Given the description of an element on the screen output the (x, y) to click on. 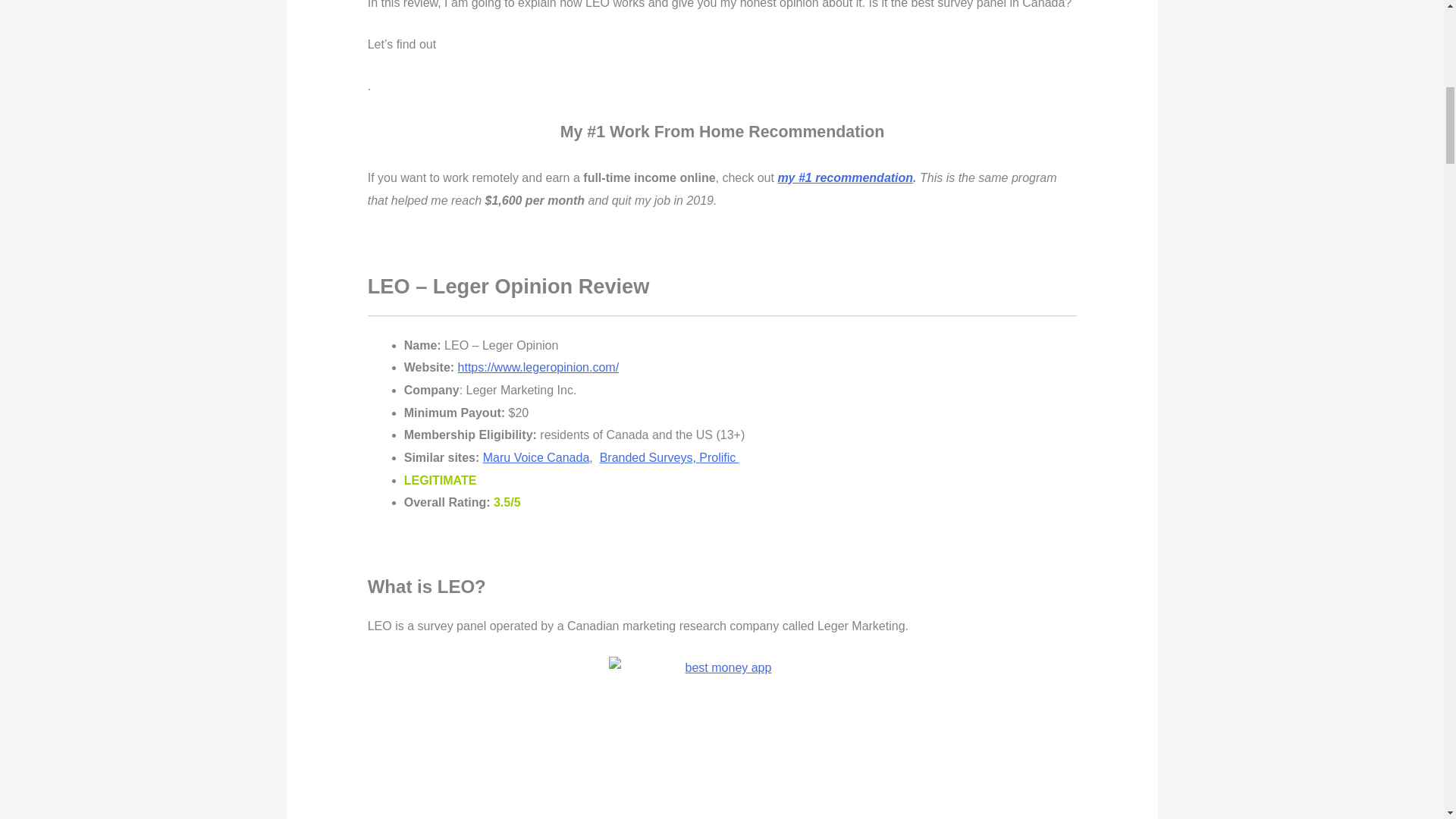
Maru Voice Canada (536, 457)
Prolific  (718, 457)
Branded Surveys, (649, 457)
